Given the description of an element on the screen output the (x, y) to click on. 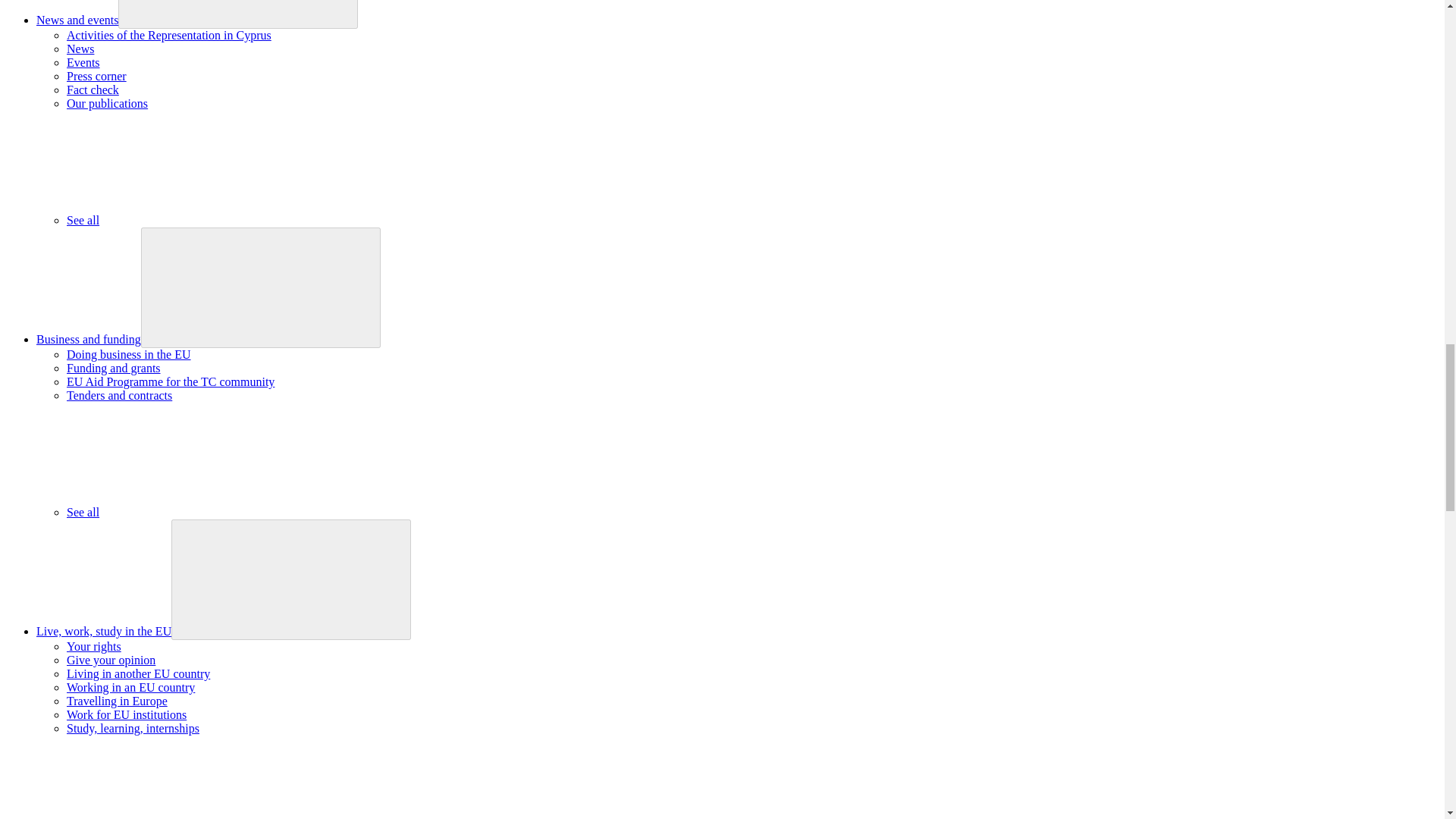
Doing business in the EU (128, 354)
See all (196, 219)
News and events (76, 19)
News (80, 48)
Press corner (96, 75)
Funding and grants (113, 367)
Fact check (92, 89)
Our publications (107, 103)
Activities of the Representation in Cyprus (168, 34)
Business and funding (88, 338)
